Given the description of an element on the screen output the (x, y) to click on. 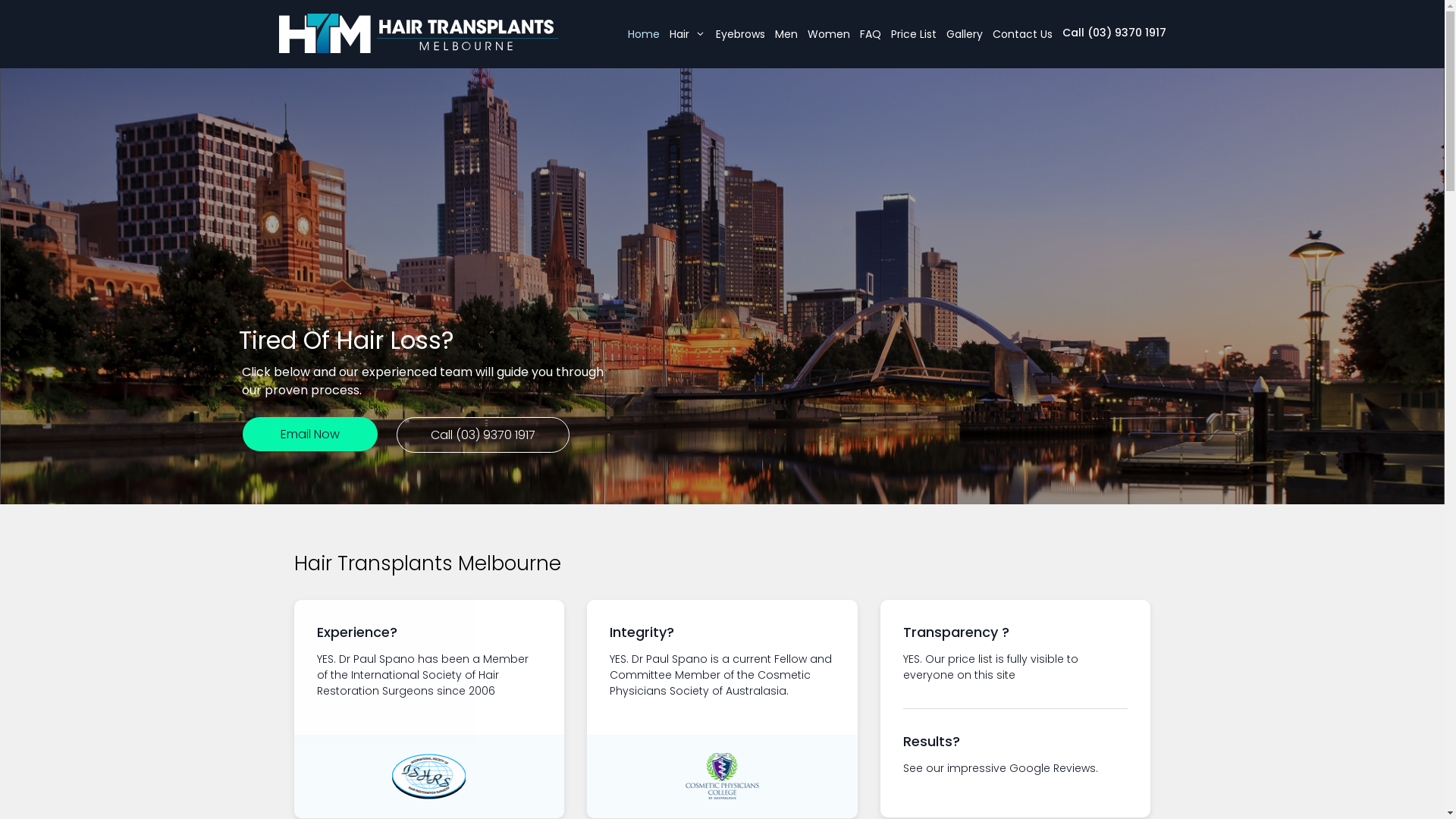
Gallery Element type: text (964, 34)
Call (03) 9370 1917 Element type: text (1113, 32)
Call (03) 9370 1917 Element type: text (482, 434)
Price List Element type: text (912, 34)
Men Element type: text (786, 34)
Hair Element type: text (687, 34)
Contact Us Element type: text (1021, 34)
FAQ Element type: text (870, 34)
Eyebrows Element type: text (740, 34)
Women Element type: text (827, 34)
Home Element type: text (643, 34)
